Given the description of an element on the screen output the (x, y) to click on. 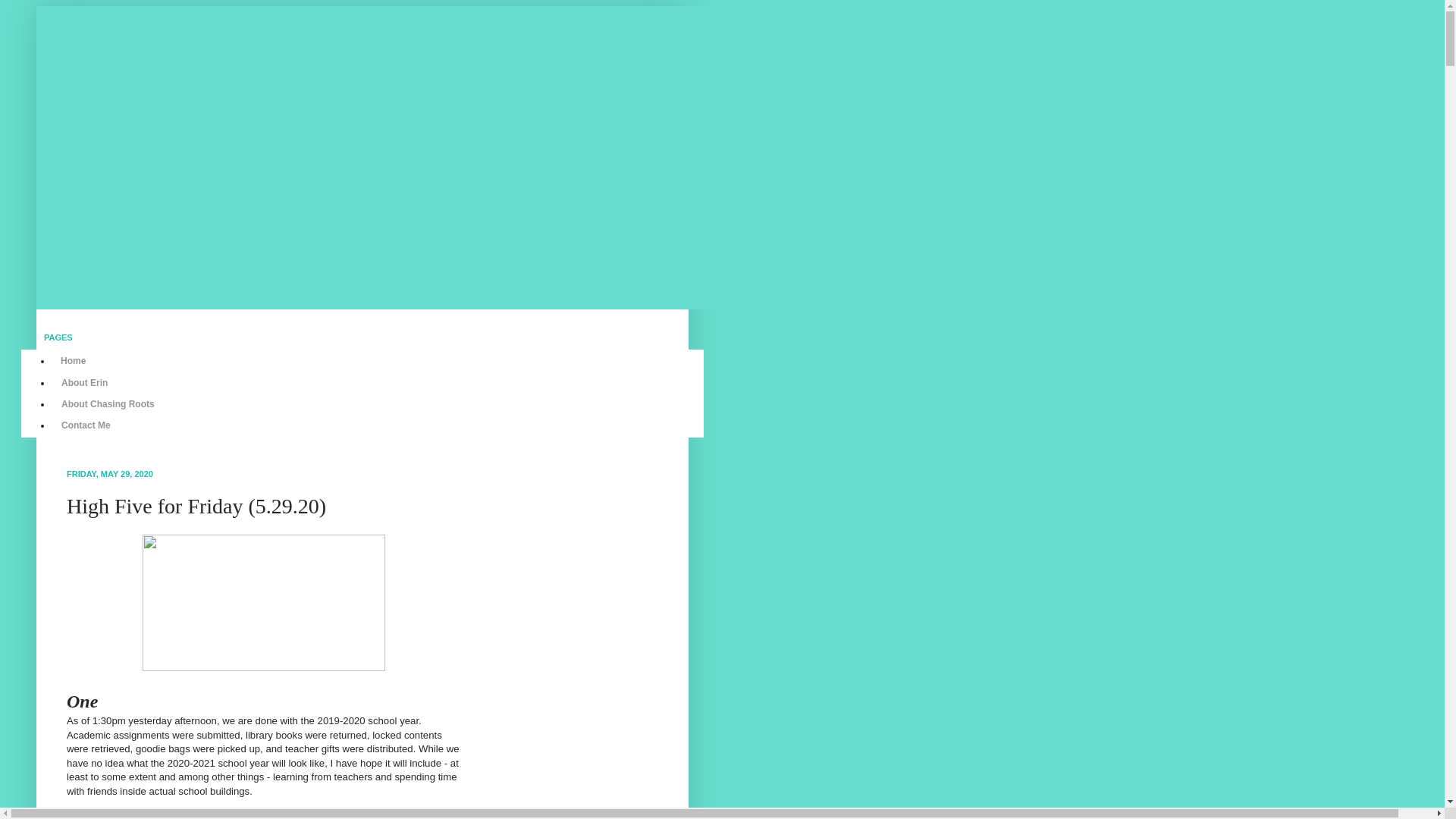
Contact Me (85, 424)
About Chasing Roots (107, 403)
Home (73, 360)
About Erin (83, 382)
